Given the description of an element on the screen output the (x, y) to click on. 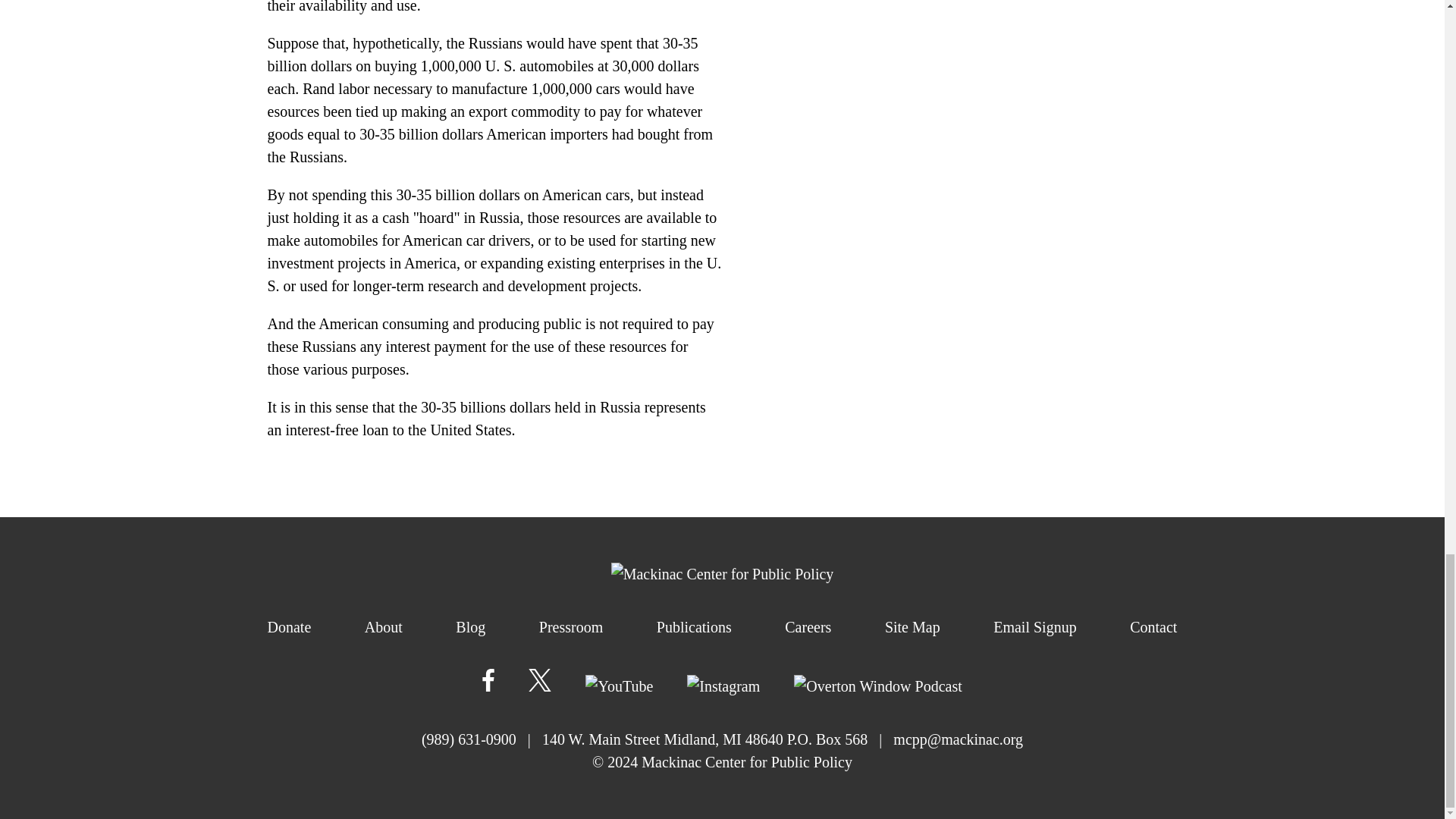
Publications (694, 626)
Email Signup (1033, 626)
Contact (1152, 626)
Blog (469, 626)
Pressroom (570, 626)
Site Map (912, 626)
Donate (288, 626)
Careers (807, 626)
About (384, 626)
